Given the description of an element on the screen output the (x, y) to click on. 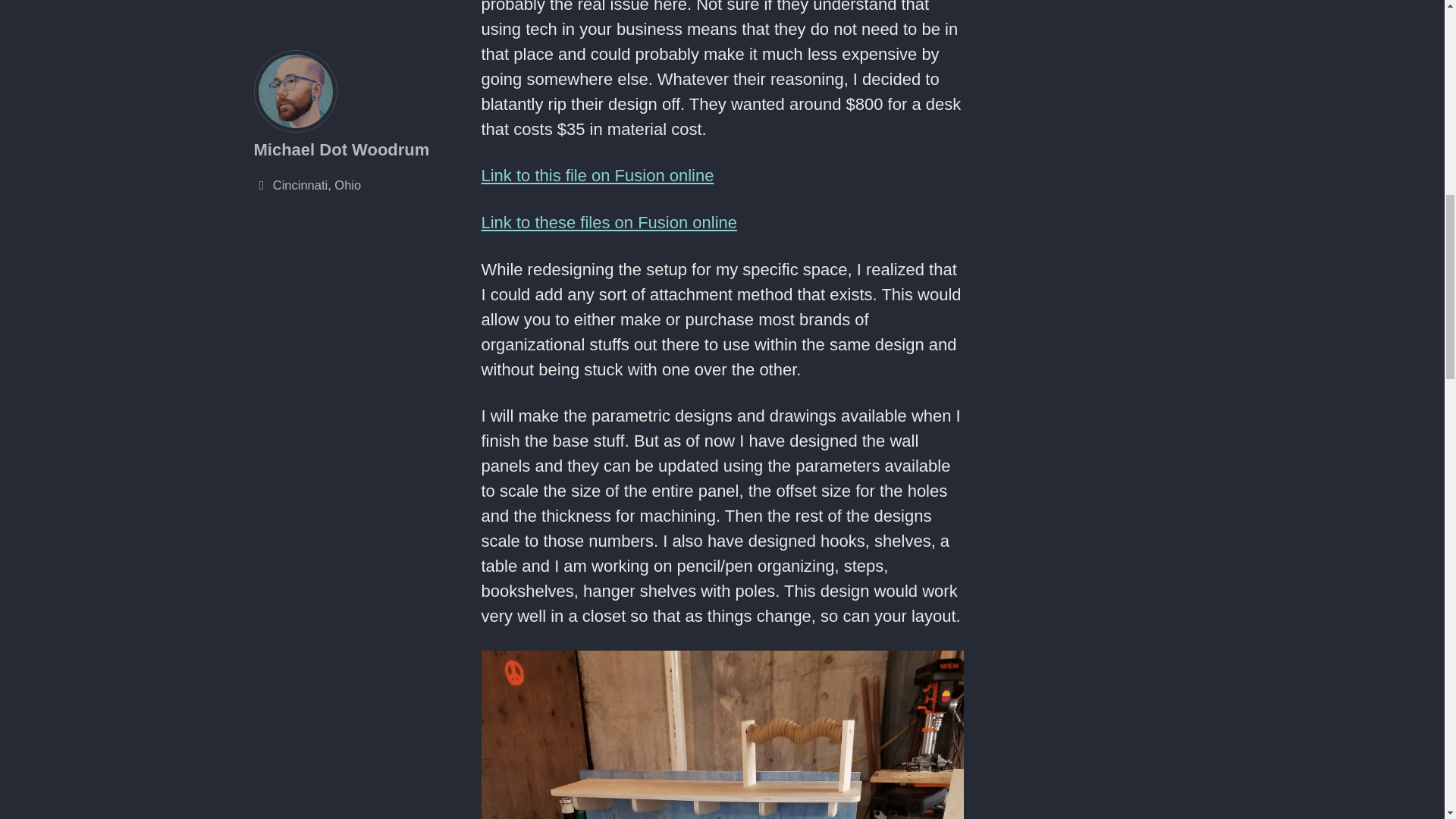
Link to these files on Fusion online (608, 221)
Link to this file on Fusion online (596, 175)
